Given the description of an element on the screen output the (x, y) to click on. 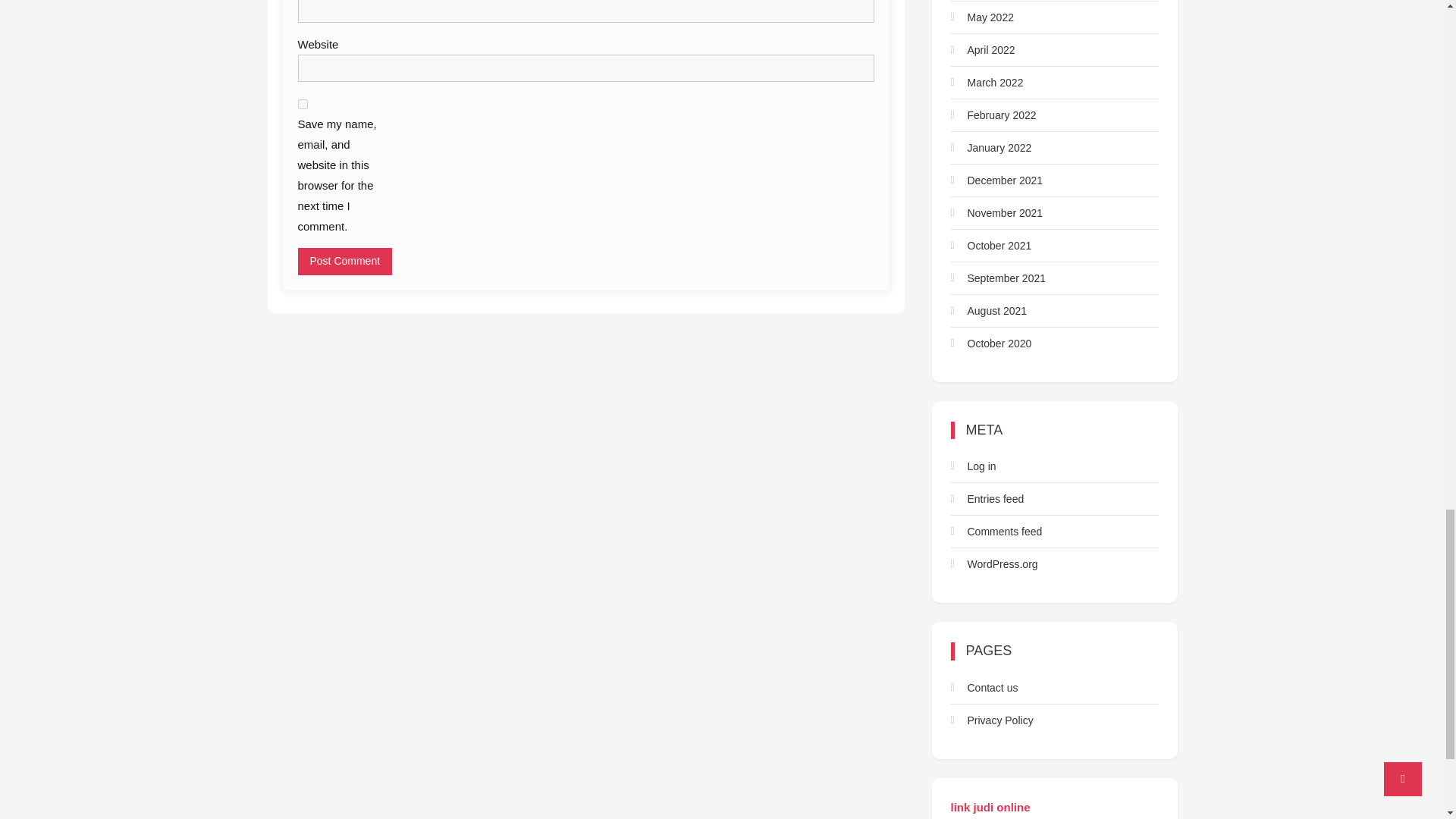
Post Comment (344, 261)
yes (302, 103)
Post Comment (344, 261)
